Given the description of an element on the screen output the (x, y) to click on. 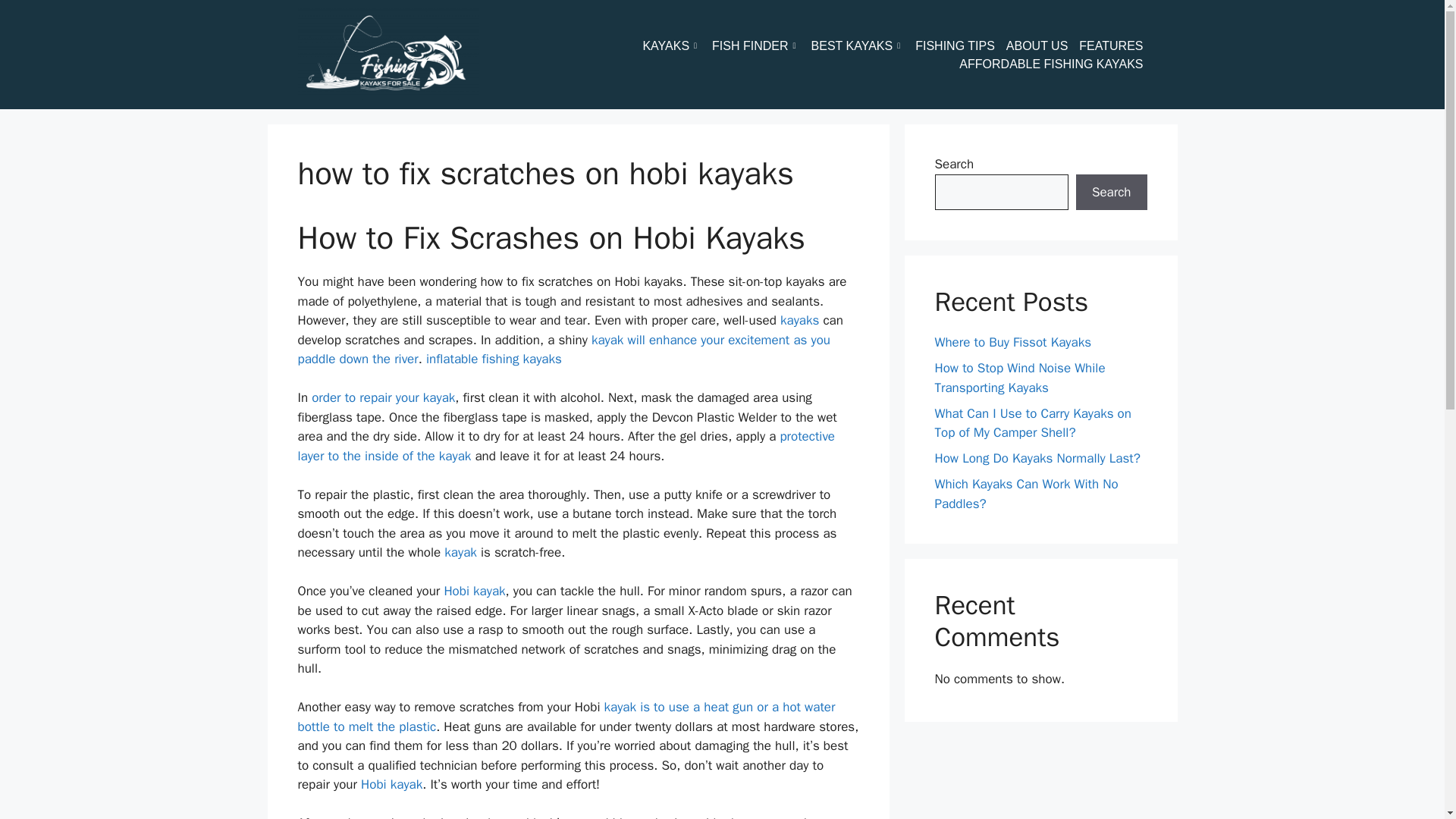
ABOUT US (1043, 45)
BEST KAYAKS (862, 45)
kayaks (799, 320)
inflatable fishing kayaks (494, 358)
FISHING TIPS (960, 45)
KAYAKS (676, 45)
kayak (460, 552)
protective layer to the inside of the kayak (565, 446)
FISH FINDER (760, 45)
AFFORDABLE FISHING KAYAKS (1056, 64)
FEATURES (1116, 45)
Hobi kayak (474, 590)
order to repair your kayak (382, 397)
